Given the description of an element on the screen output the (x, y) to click on. 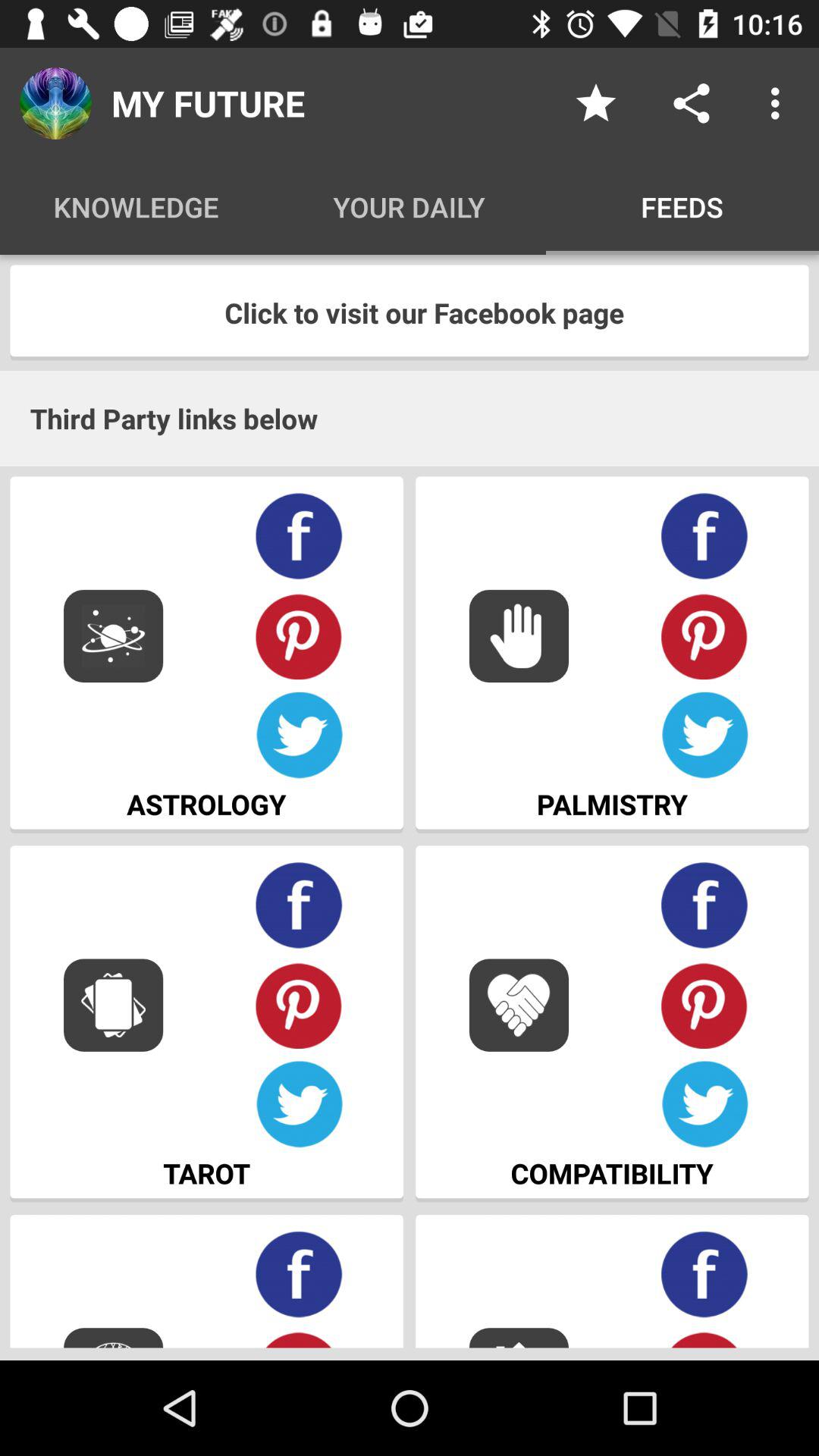
share on twitter (704, 1104)
